Given the description of an element on the screen output the (x, y) to click on. 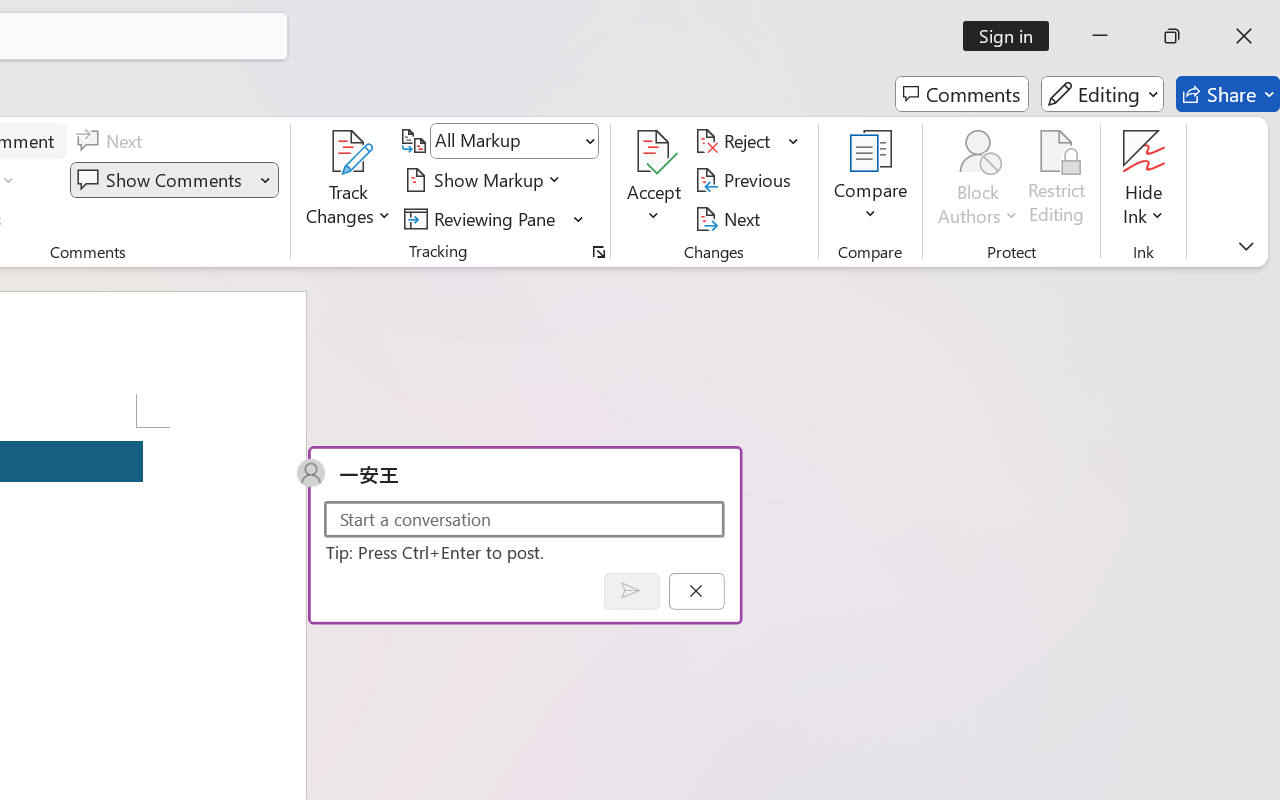
Reject and Move to Next (735, 141)
Cancel (696, 590)
Reviewing Pane (494, 218)
Block Authors (977, 151)
Previous (745, 179)
Reject (747, 141)
Accept and Move to Next (653, 151)
Show Comments (174, 179)
Next (730, 218)
Show Comments (162, 179)
Change Tracking Options... (598, 252)
Reviewing Pane (483, 218)
